Given the description of an element on the screen output the (x, y) to click on. 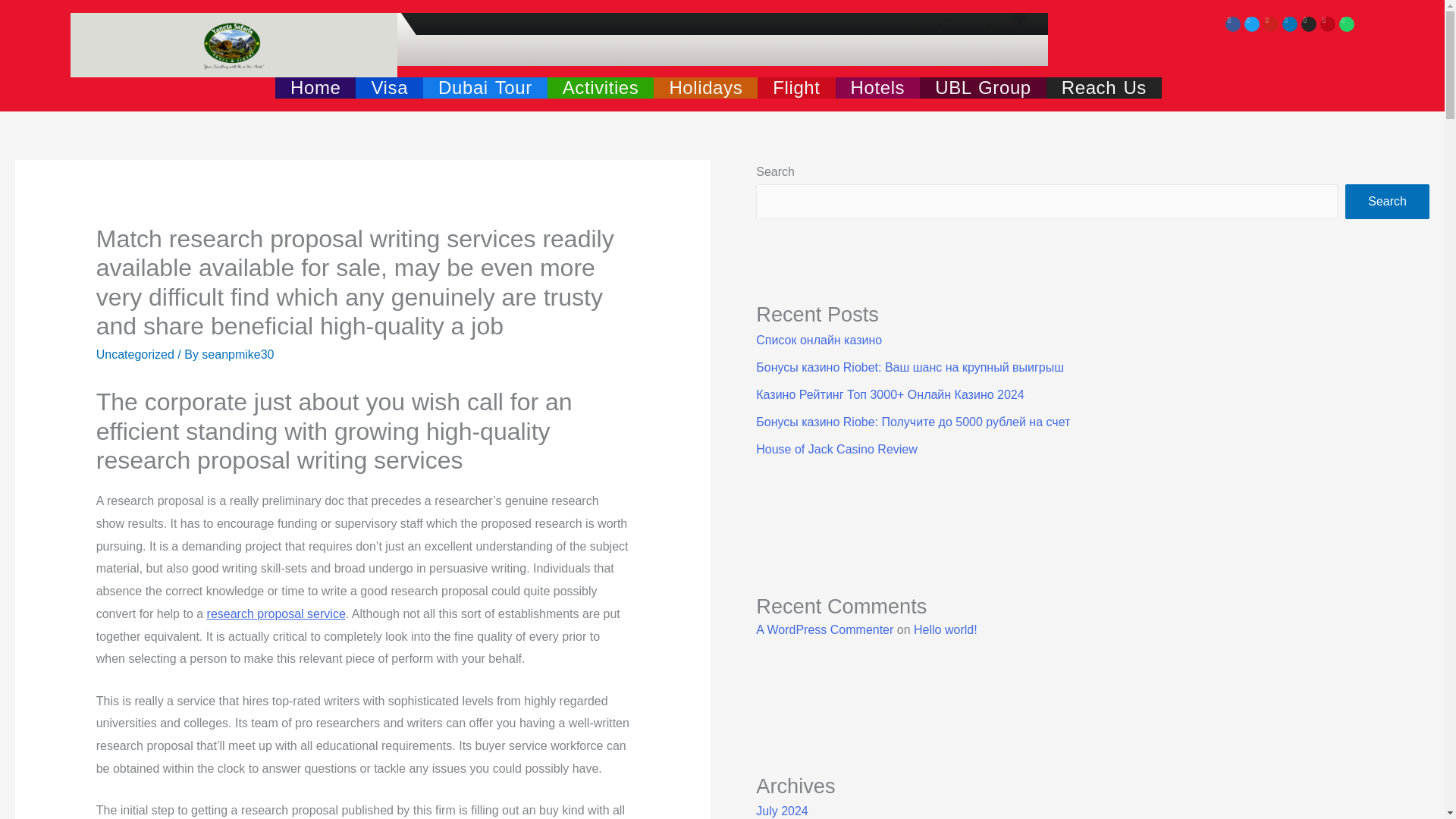
Flight (795, 87)
View all posts by seanpmike30 (237, 354)
Uncategorized (135, 354)
Visa (389, 87)
seanpmike30 (237, 354)
Activities (600, 87)
Holidays (705, 87)
Reach Us (1103, 87)
Hotels (877, 87)
UBL Group (983, 87)
Dubai Tour (485, 87)
Home (315, 87)
research proposal service (276, 613)
Search (1387, 201)
